Given the description of an element on the screen output the (x, y) to click on. 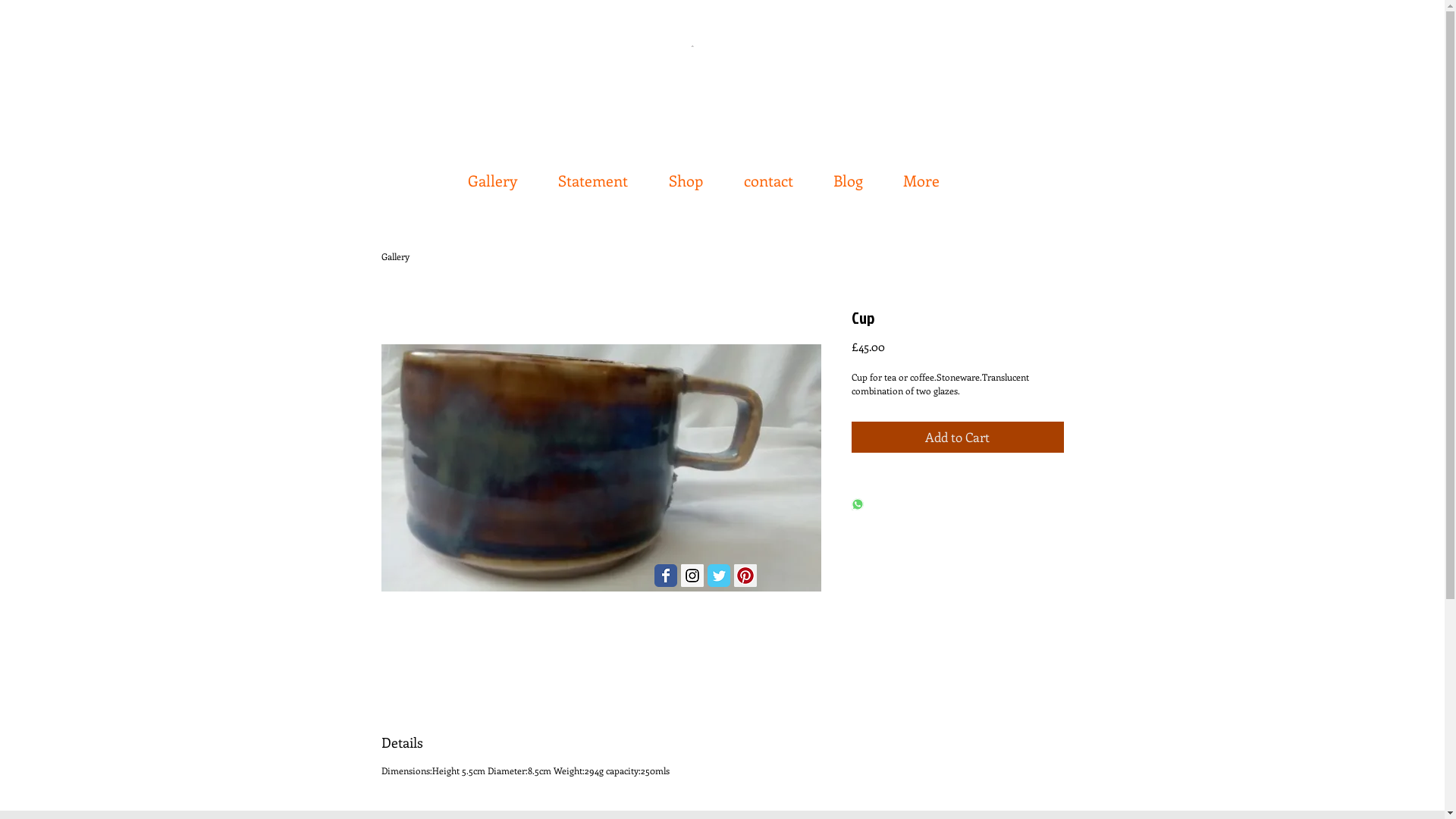
contact Element type: text (770, 173)
Add to Cart Element type: text (956, 437)
Gallery Element type: text (495, 173)
Statement Element type: text (594, 173)
Shop Element type: text (687, 173)
Gallery Element type: text (394, 256)
Blog Element type: text (850, 173)
